Given the description of an element on the screen output the (x, y) to click on. 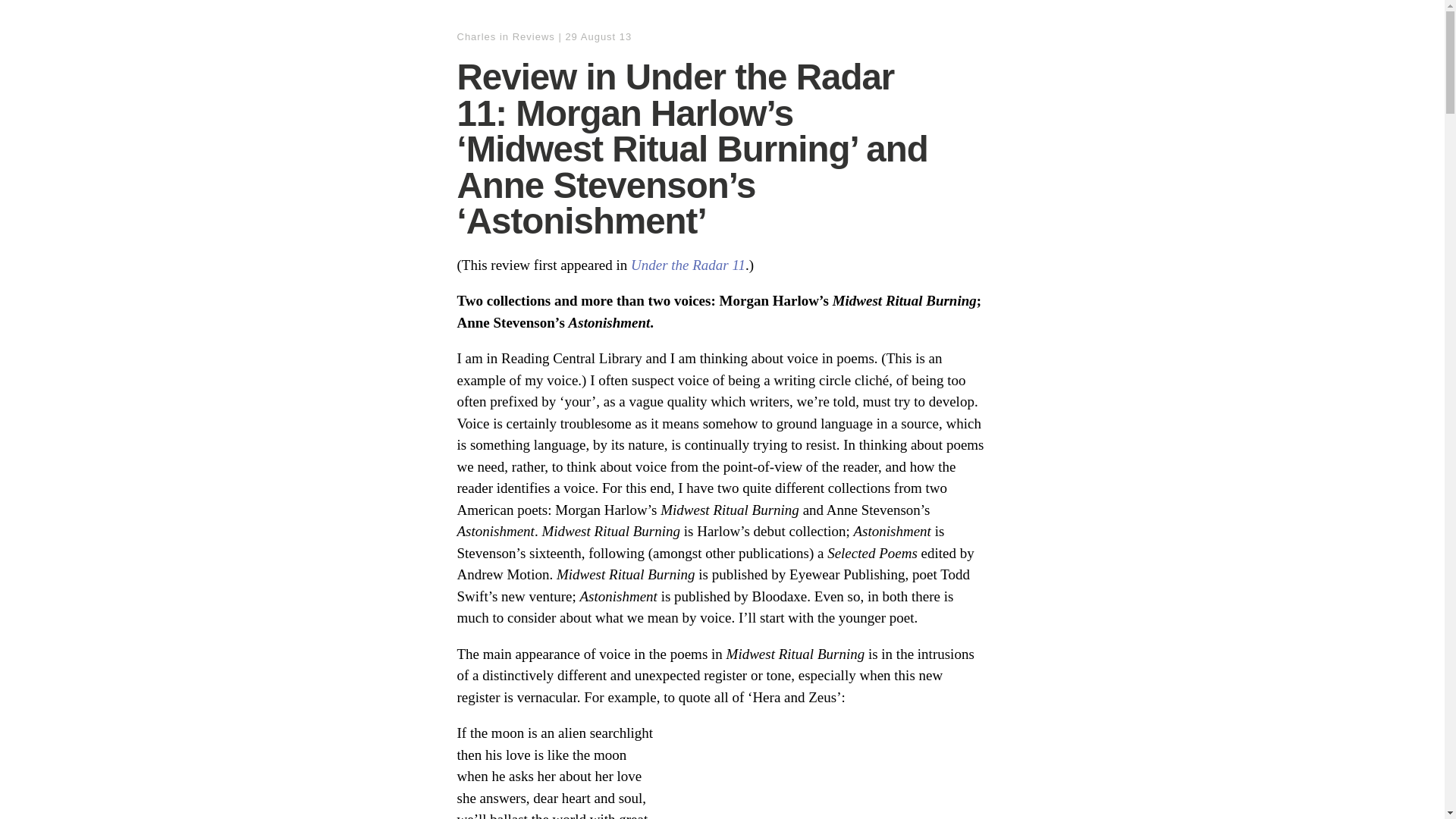
Reviews (533, 36)
Charles (476, 36)
29 August 13 (597, 36)
View all posts by Charles (476, 36)
Under the Radar 11 (687, 264)
